Given the description of an element on the screen output the (x, y) to click on. 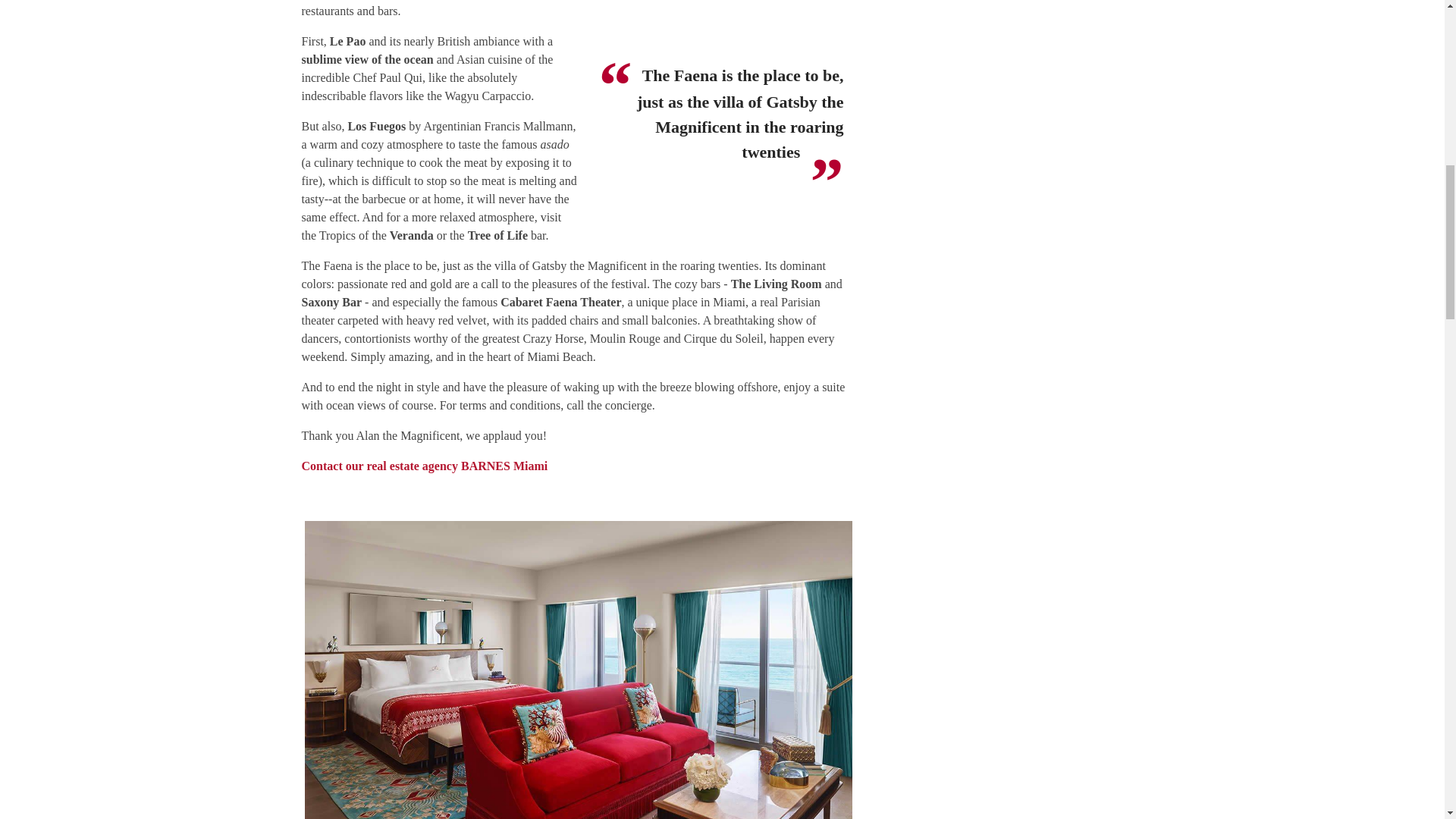
Contact our real estate agency BARNES Miami (424, 465)
